Given the description of an element on the screen output the (x, y) to click on. 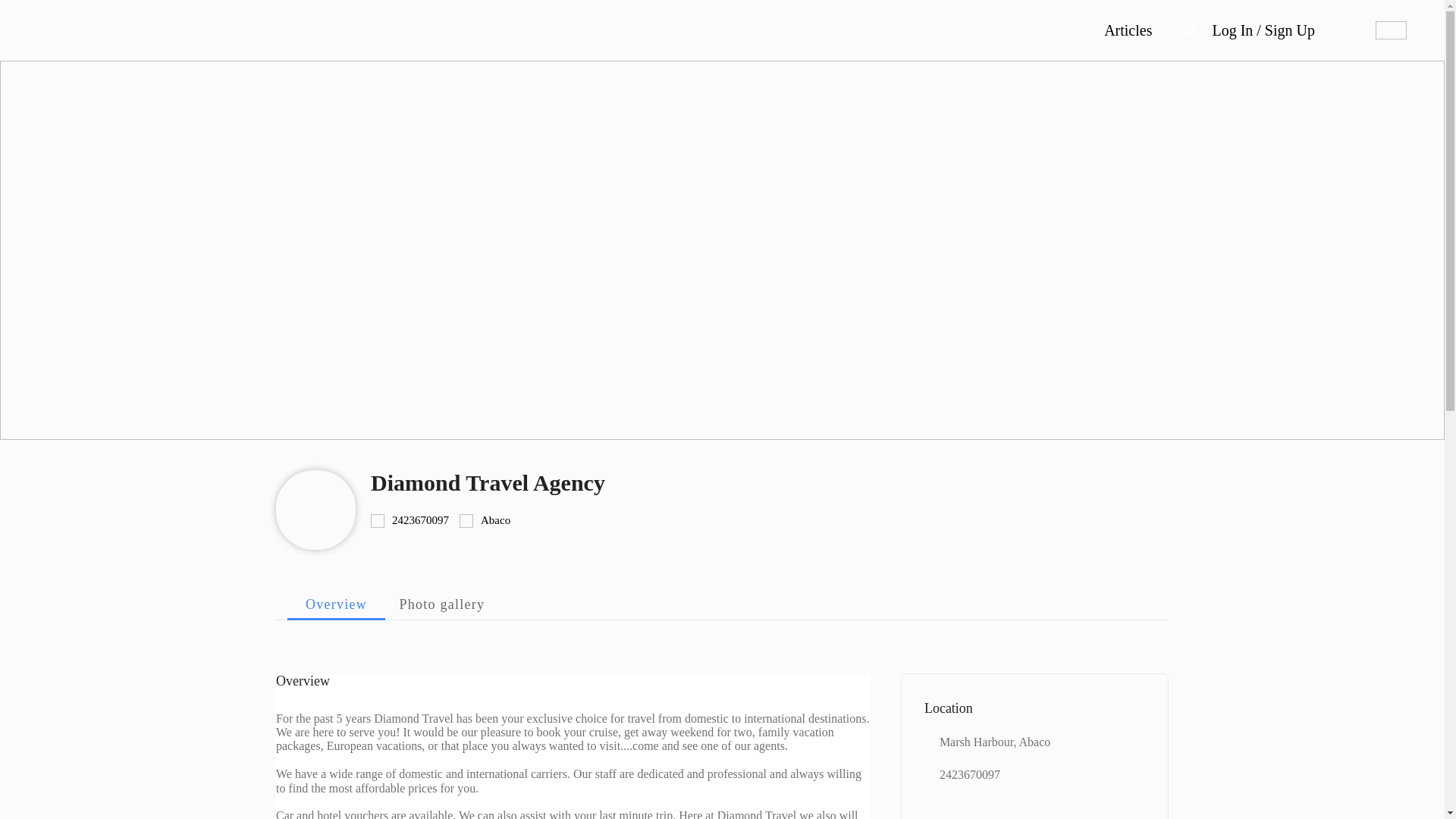
2423670097 (419, 520)
Photo gallery (442, 603)
Overview (335, 603)
2423670097 (969, 775)
Articles (1127, 30)
